Given the description of an element on the screen output the (x, y) to click on. 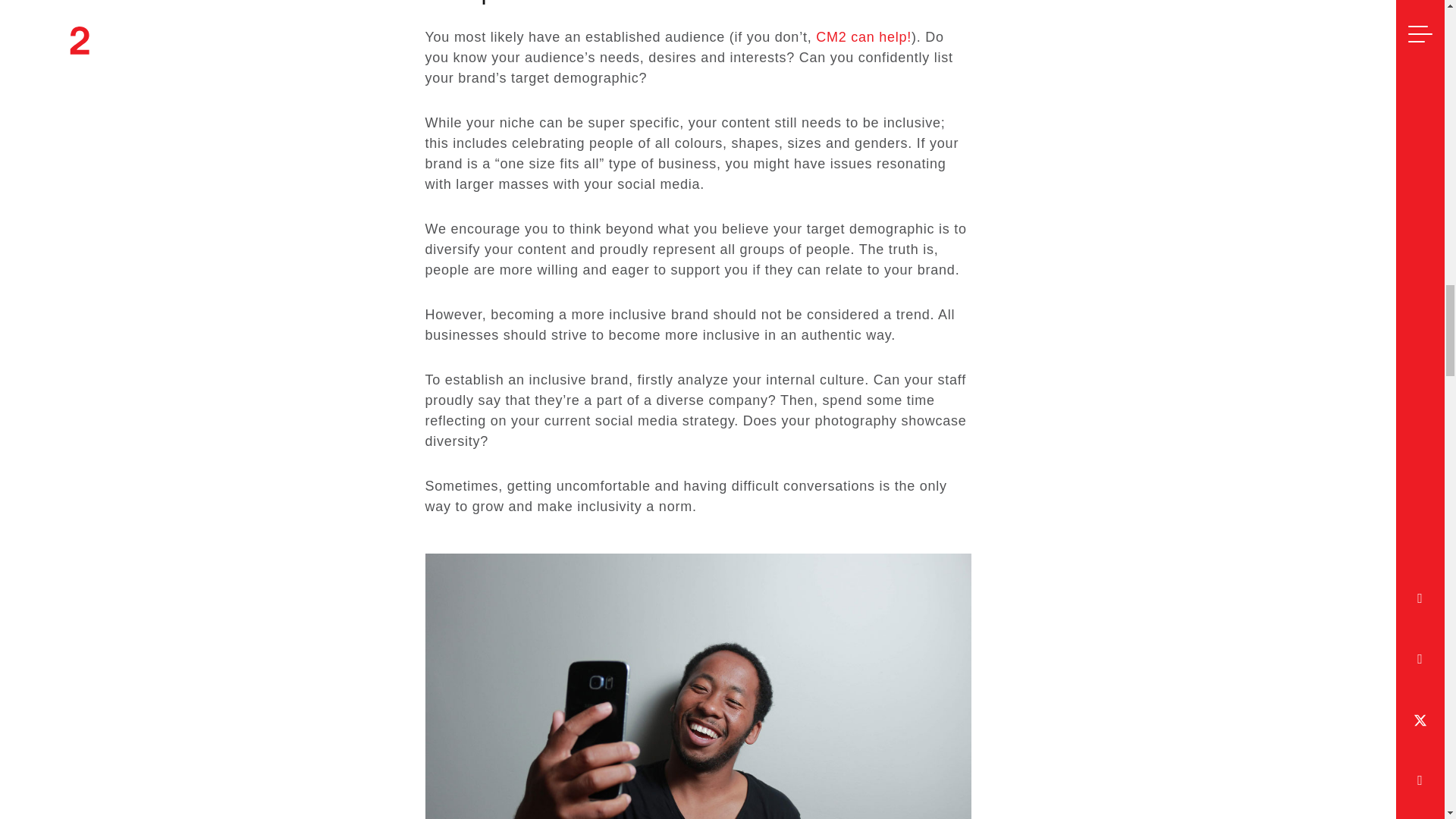
CM2 can help! (863, 37)
